Given the description of an element on the screen output the (x, y) to click on. 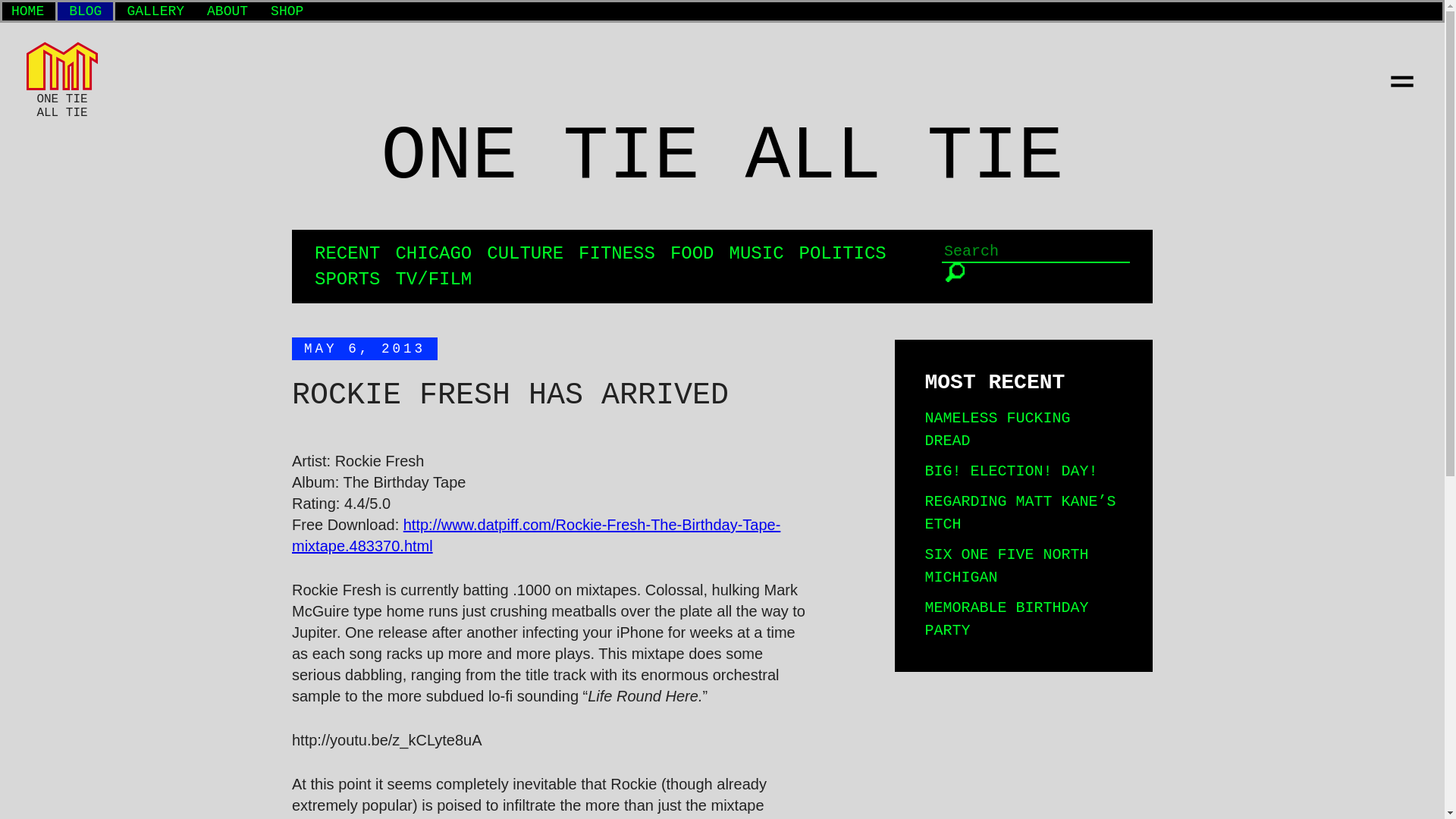
HOME (27, 11)
GALLERY (155, 11)
POLITICS (842, 253)
Skip to content (40, 8)
BIG! ELECTION! DAY! (1010, 470)
SHOP (286, 11)
BLOG (84, 11)
RECENT (347, 253)
FOOD (691, 253)
MUSIC (756, 253)
CHICAGO (432, 253)
ABOUT (226, 11)
FITNESS (616, 253)
NAMELESS FUCKING DREAD (997, 429)
CULTURE (524, 253)
